Given the description of an element on the screen output the (x, y) to click on. 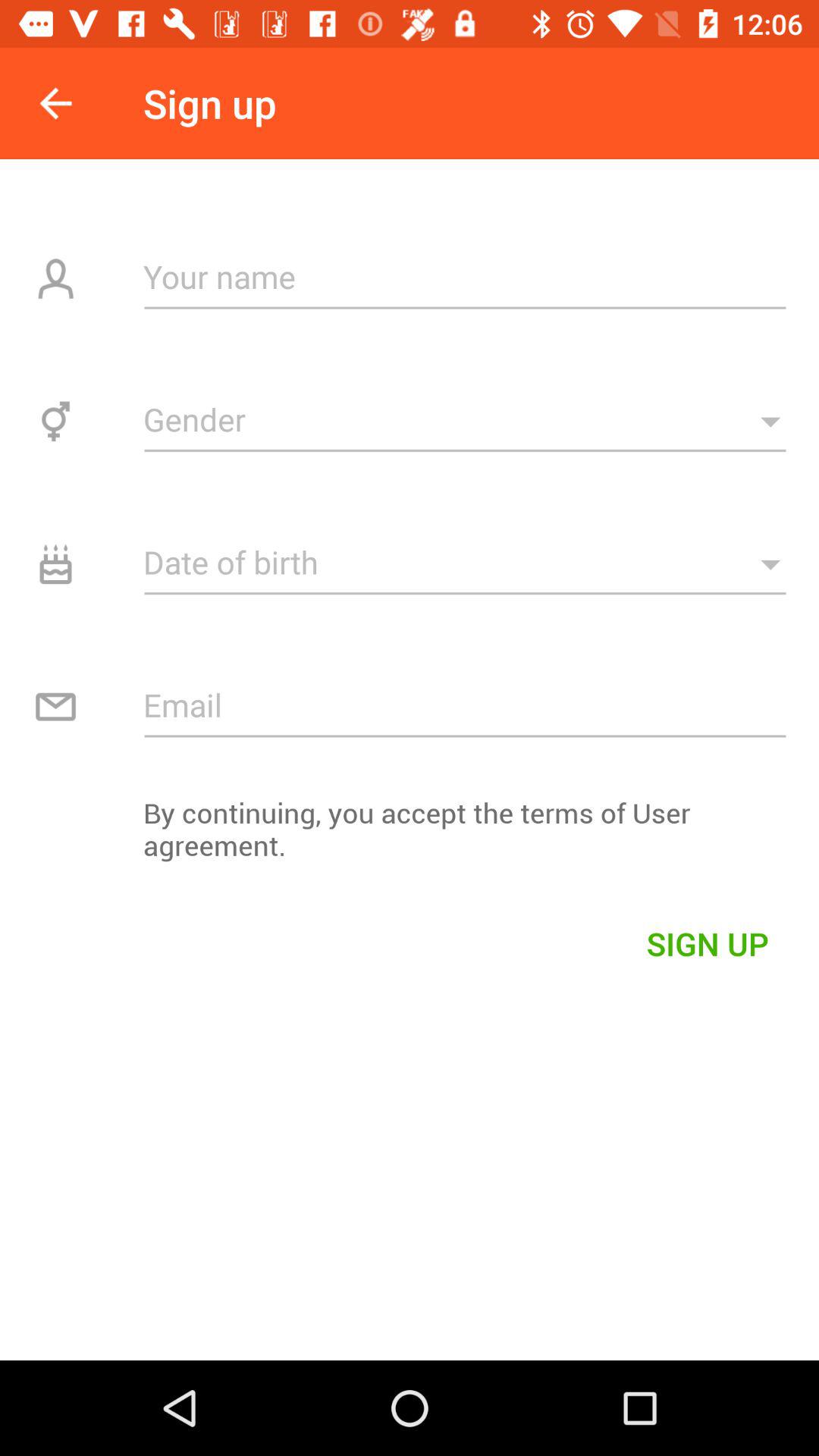
go to previous (55, 103)
